Given the description of an element on the screen output the (x, y) to click on. 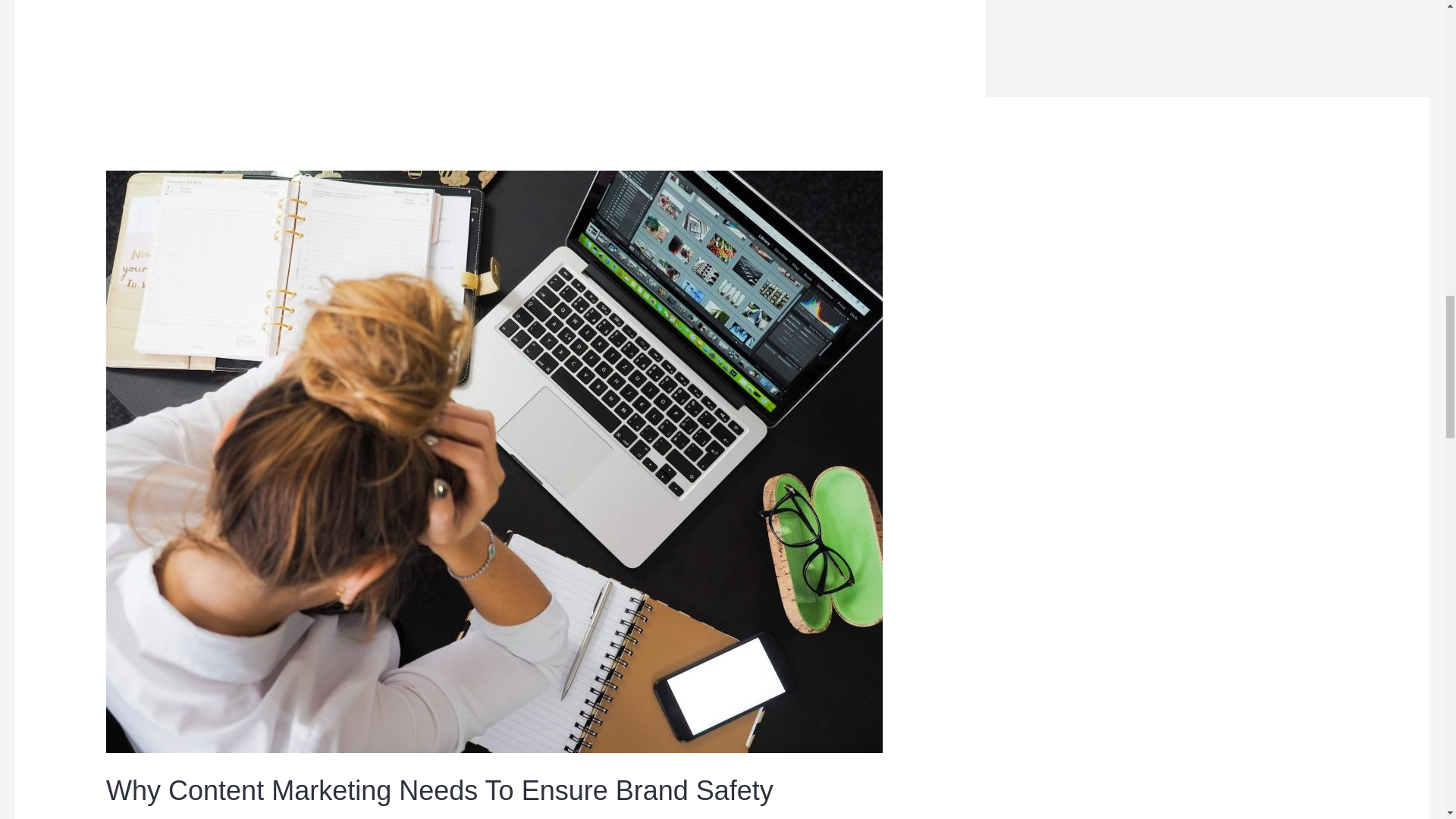
Content Marketing (305, 817)
Why Content Marketing Needs To Ensure Brand Safety (439, 789)
Vanhishikha Bhargava (460, 817)
View all posts by Vanhishikha Bhargava (460, 817)
1 Comment (141, 817)
Branding (215, 817)
